Given the description of an element on the screen output the (x, y) to click on. 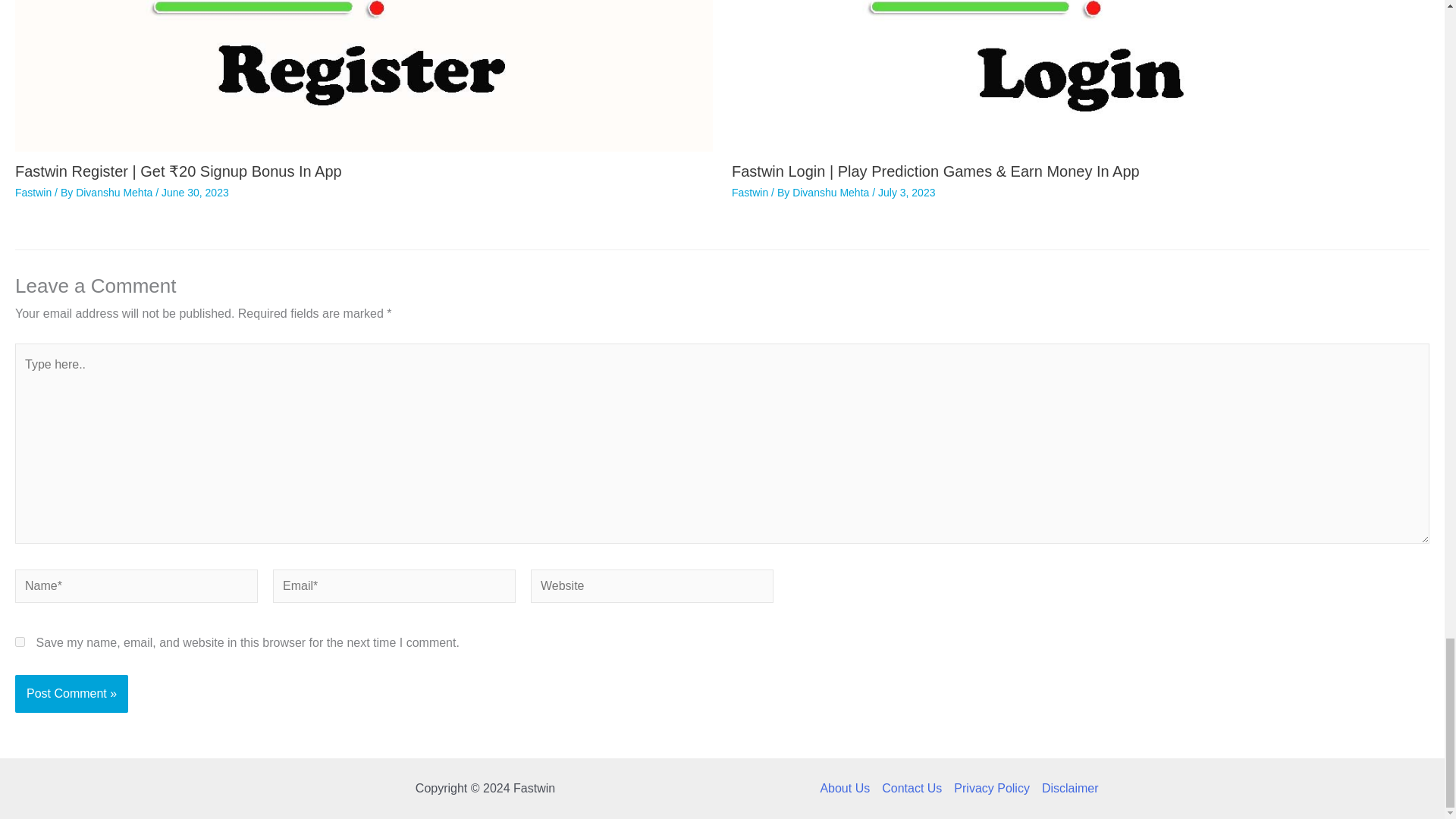
Fastwin (750, 192)
View all posts by Divanshu Mehta (115, 192)
Divanshu Mehta (832, 192)
Disclaimer (1067, 788)
Fastwin (32, 192)
Contact Us (911, 788)
View all posts by Divanshu Mehta (832, 192)
yes (19, 642)
About Us (847, 788)
Divanshu Mehta (115, 192)
